Given the description of an element on the screen output the (x, y) to click on. 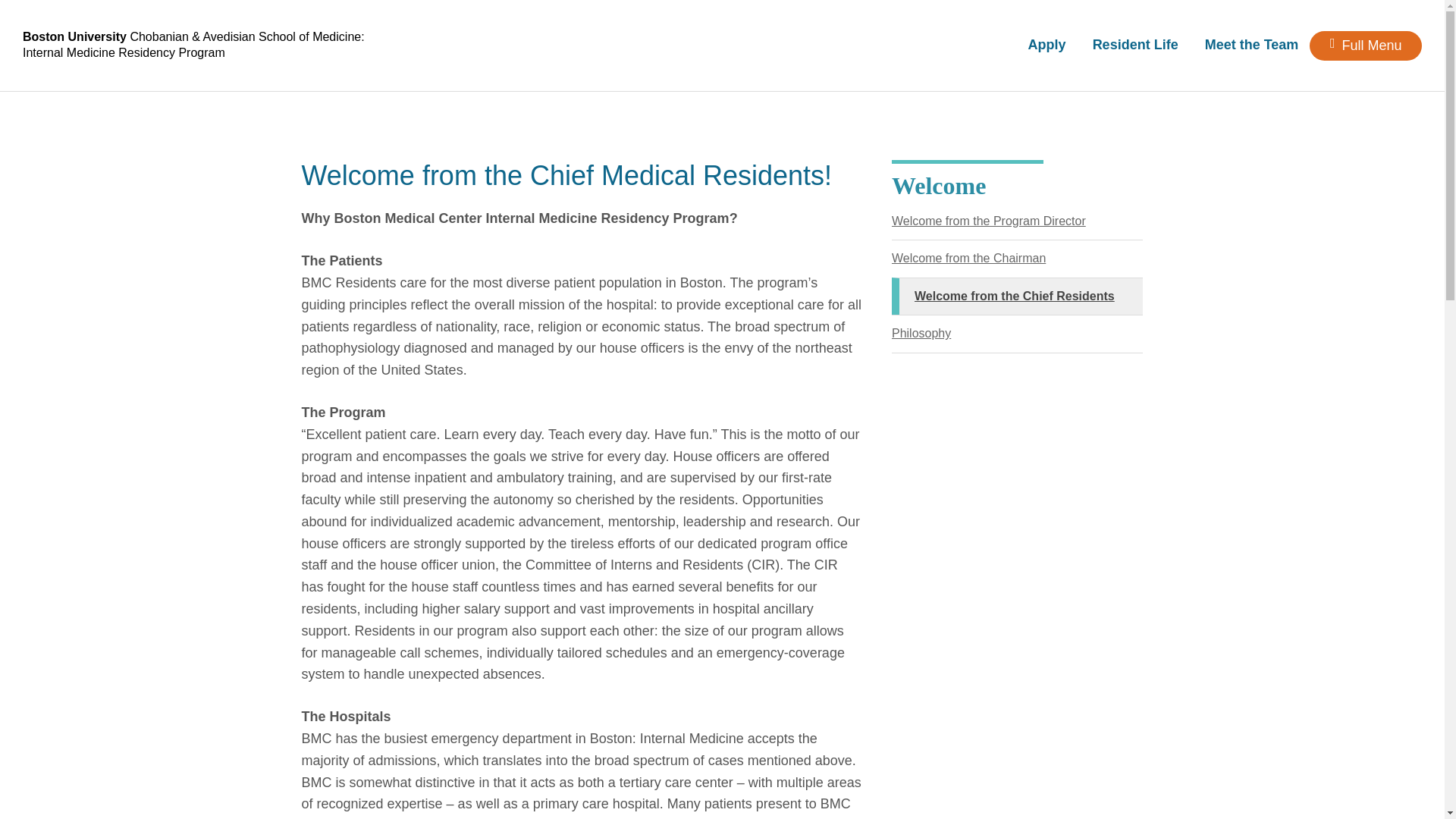
Internship (1140, 221)
Meet the Team (1251, 44)
Categorical Training Program (722, 172)
Navigate to: Primary Care Training Program (721, 225)
Pathways (721, 334)
Navigate to: Welcome from the Program Director (303, 203)
Retreats (1140, 334)
Core Faculty (303, 466)
Apply (1046, 44)
Navigate to: Research  (932, 162)
Alumni (513, 435)
Chief Residents (303, 495)
Meet the Team (304, 435)
Requirements (512, 194)
Publications (931, 250)
